Given the description of an element on the screen output the (x, y) to click on. 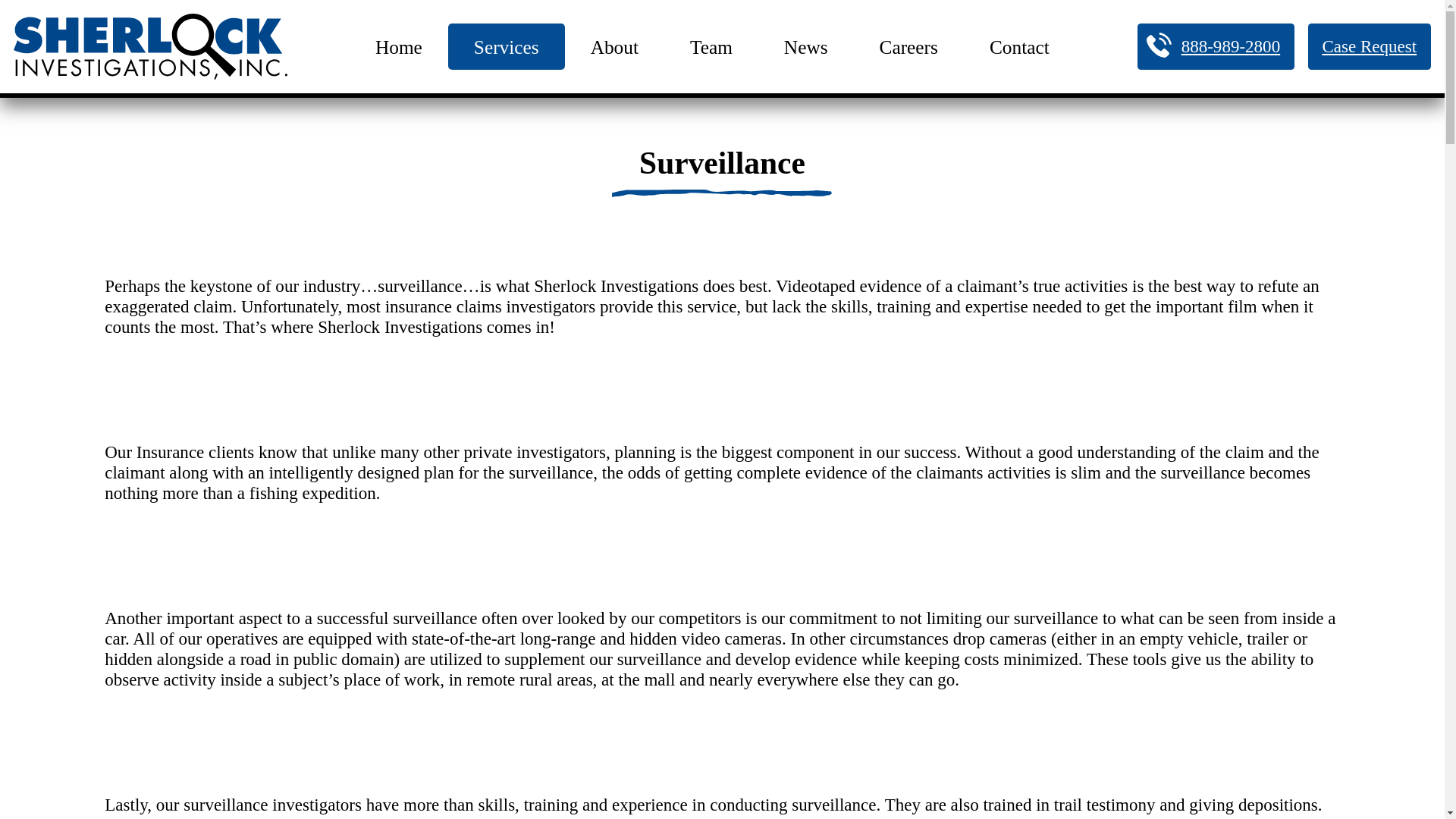
Home (398, 45)
News (805, 45)
Case Request (1369, 45)
Services (506, 45)
888-989-2800 (1215, 45)
About (613, 45)
Contact (1019, 45)
Careers (908, 45)
Team (710, 45)
